Given the description of an element on the screen output the (x, y) to click on. 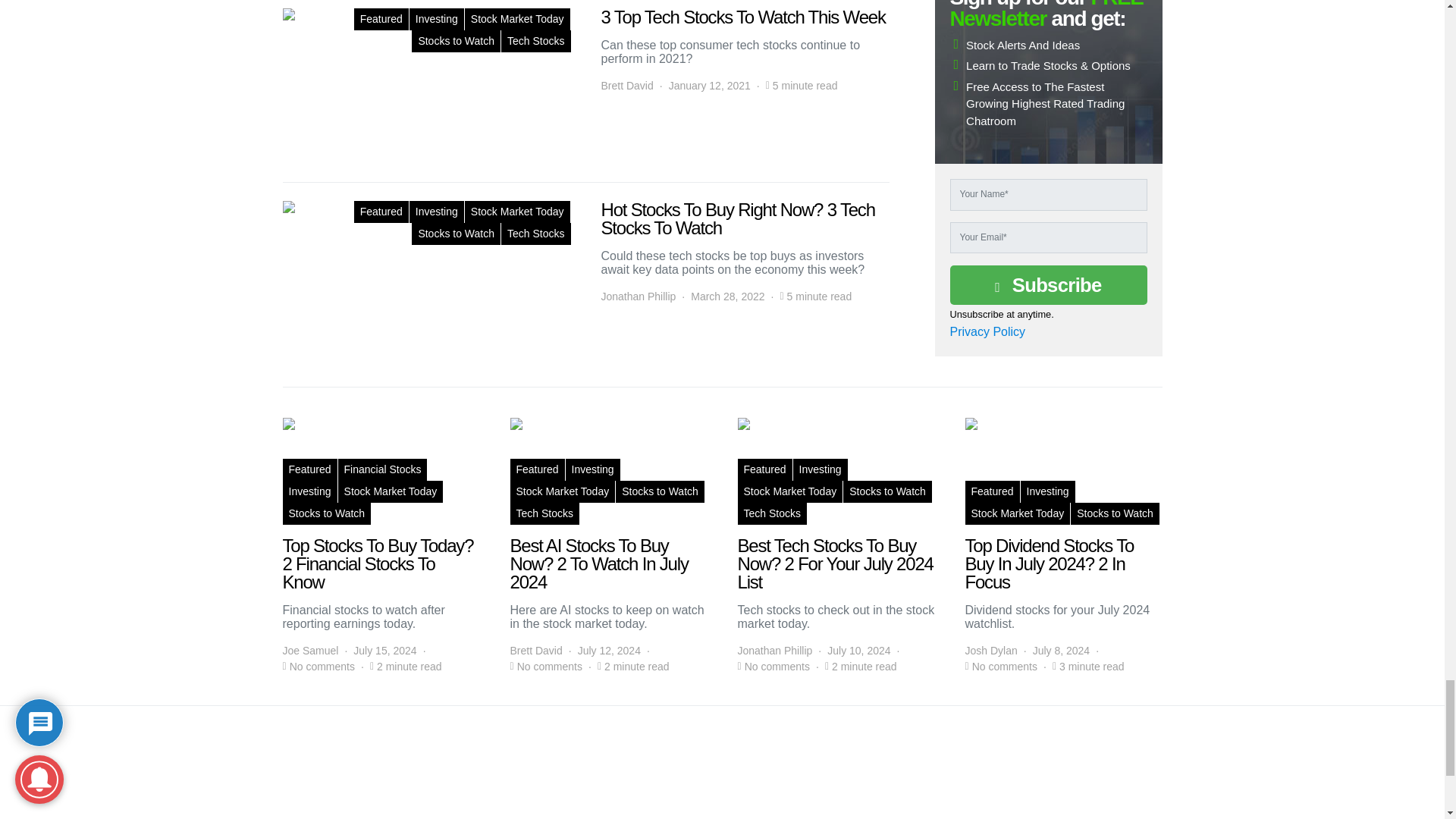
View all posts by Joe Samuel (309, 650)
View all posts by Jonathan Phillip (637, 296)
View all posts by Brett David (625, 85)
